Given the description of an element on the screen output the (x, y) to click on. 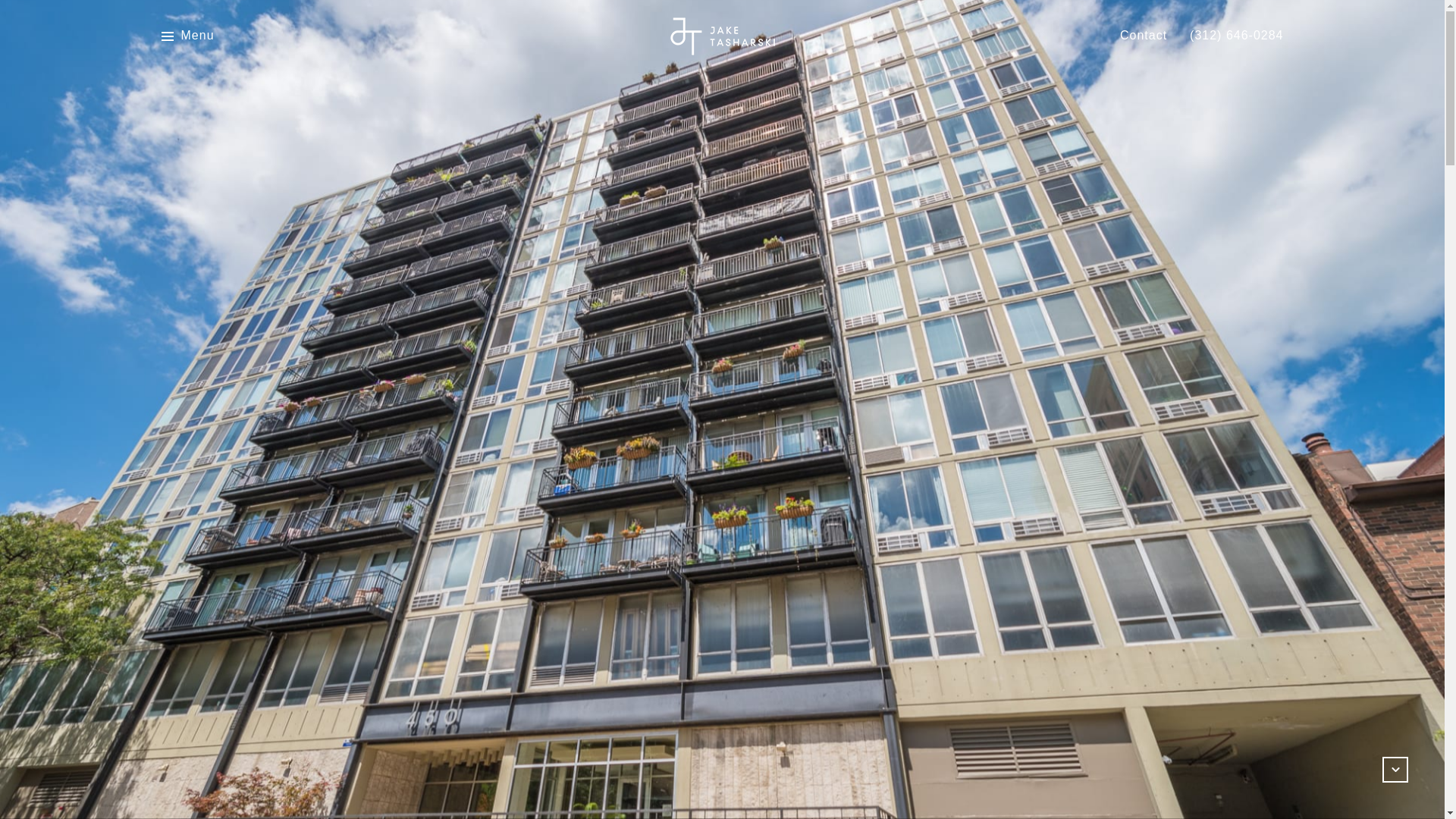
Menu (197, 35)
Contact (1143, 35)
Menu (187, 35)
